Given the description of an element on the screen output the (x, y) to click on. 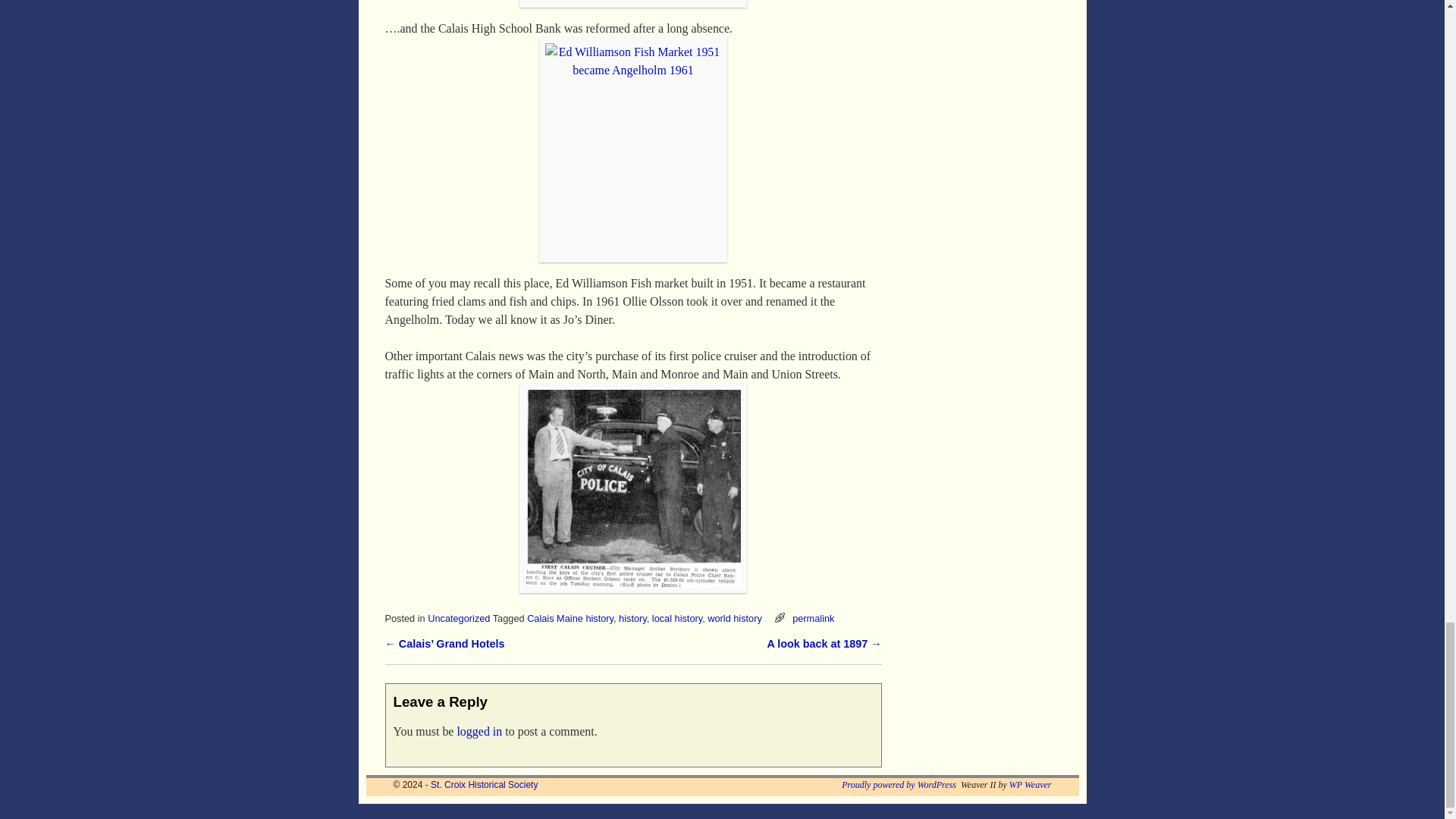
St. Croix Historical Society (483, 784)
history (632, 618)
wordpress.org (898, 784)
Uncategorized (458, 618)
local history (676, 618)
Permalink to A look back at 1951 (813, 618)
world history (734, 618)
permalink (813, 618)
Calais Maine history (569, 618)
